Given the description of an element on the screen output the (x, y) to click on. 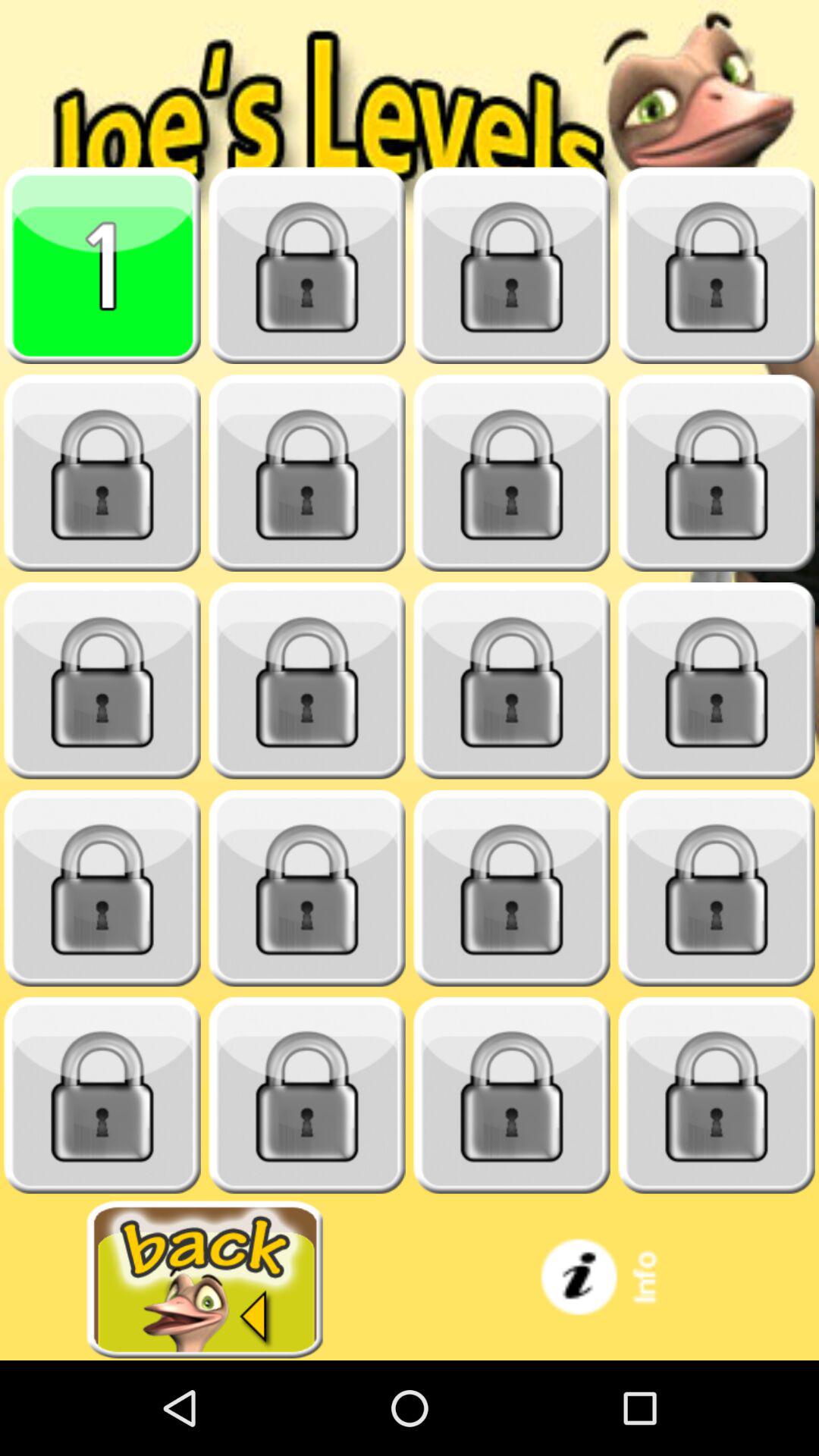
unlock next level (306, 265)
